Given the description of an element on the screen output the (x, y) to click on. 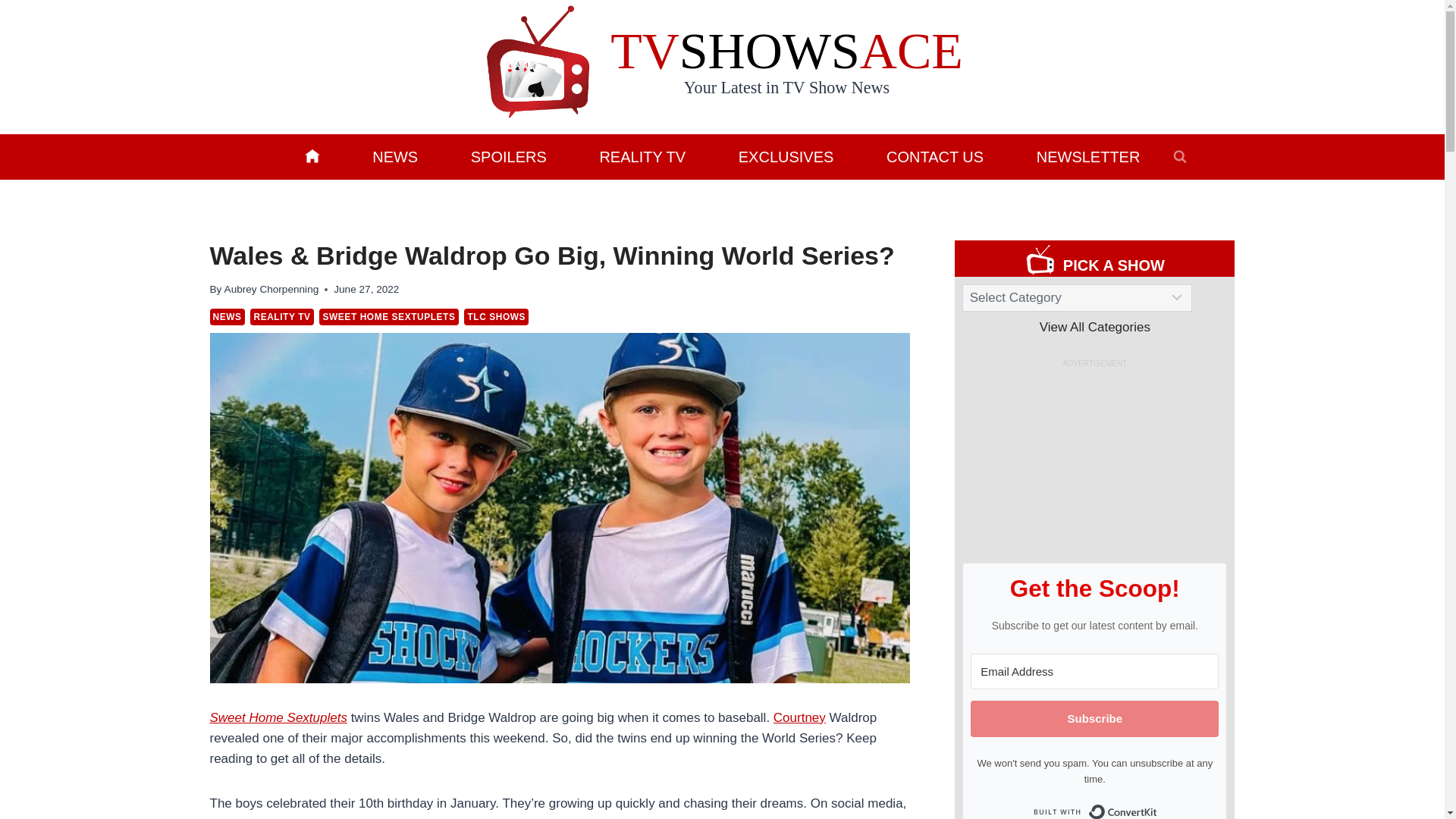
REALITY TV (642, 156)
NEWS (395, 156)
REALITY TV (281, 316)
EXCLUSIVES (785, 156)
NEWS (226, 316)
Courtney (799, 717)
NEWSLETTER (1088, 156)
Sweet Home Sextuplets (277, 717)
TLC SHOWS (496, 316)
SWEET HOME SEXTUPLETS (388, 316)
